Given the description of an element on the screen output the (x, y) to click on. 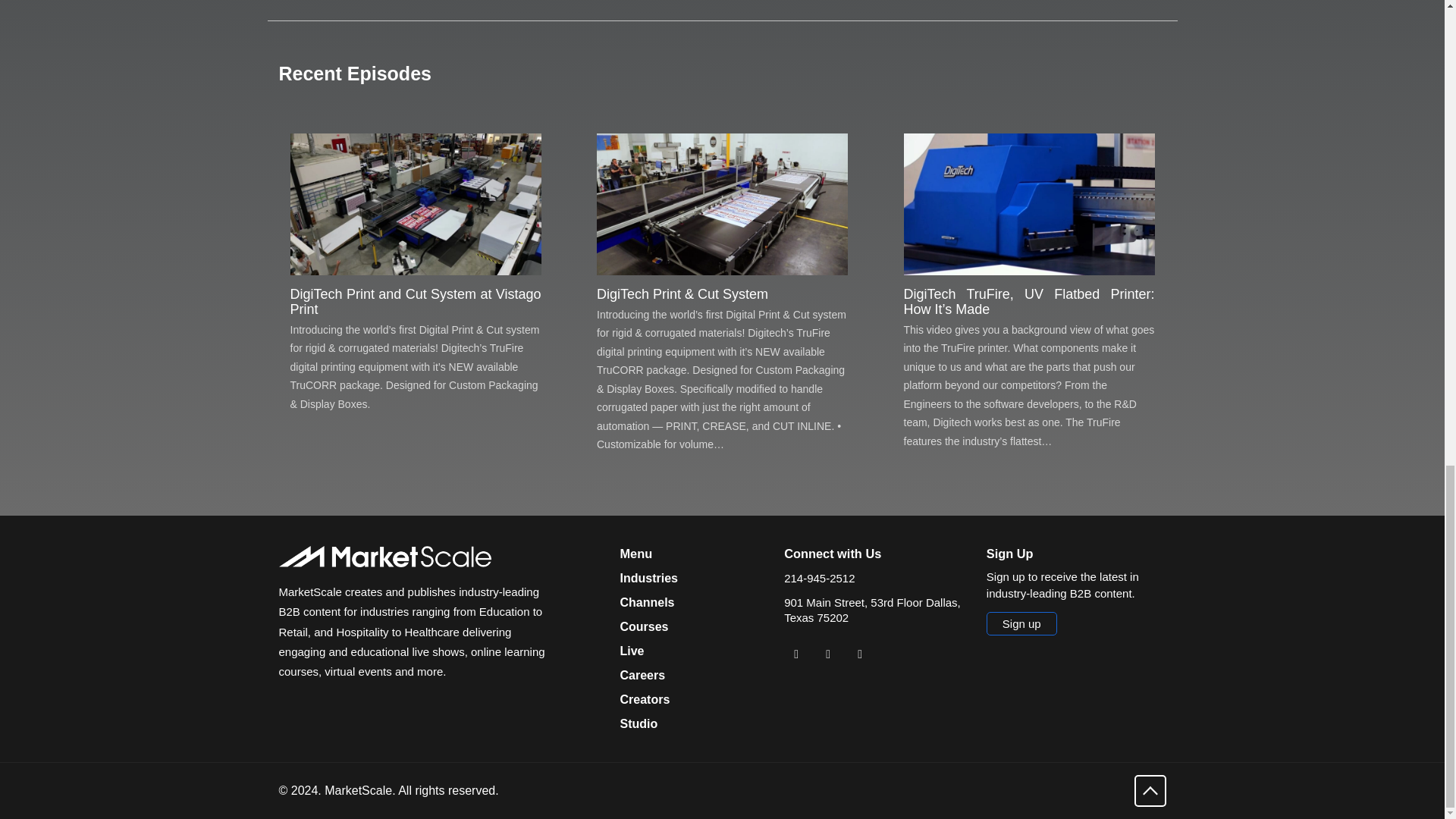
Share on Instagram (859, 654)
Share on Linkedin (796, 654)
Share on X (827, 654)
